Given the description of an element on the screen output the (x, y) to click on. 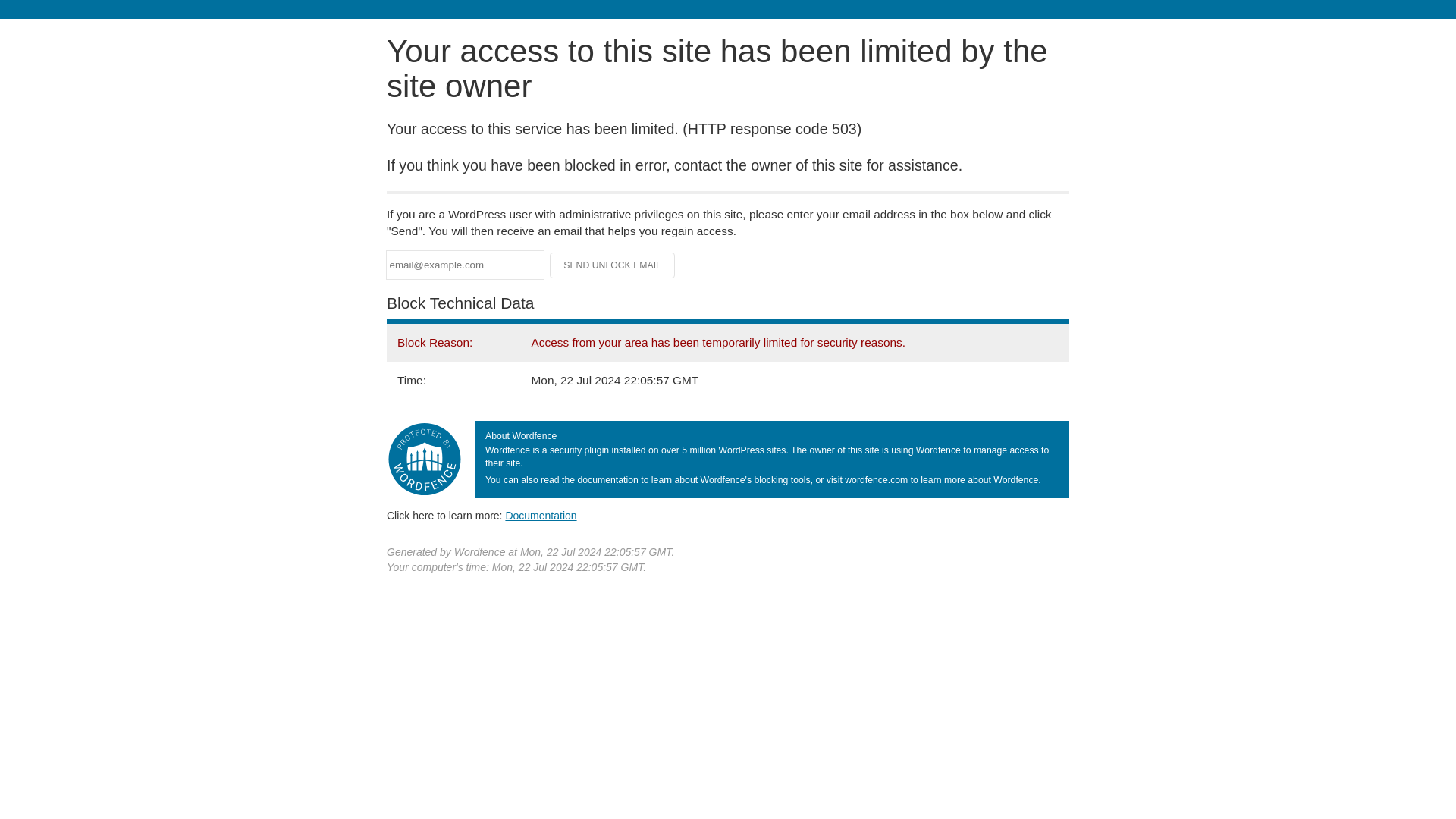
Send Unlock Email (612, 265)
Documentation (540, 515)
Send Unlock Email (612, 265)
